Given the description of an element on the screen output the (x, y) to click on. 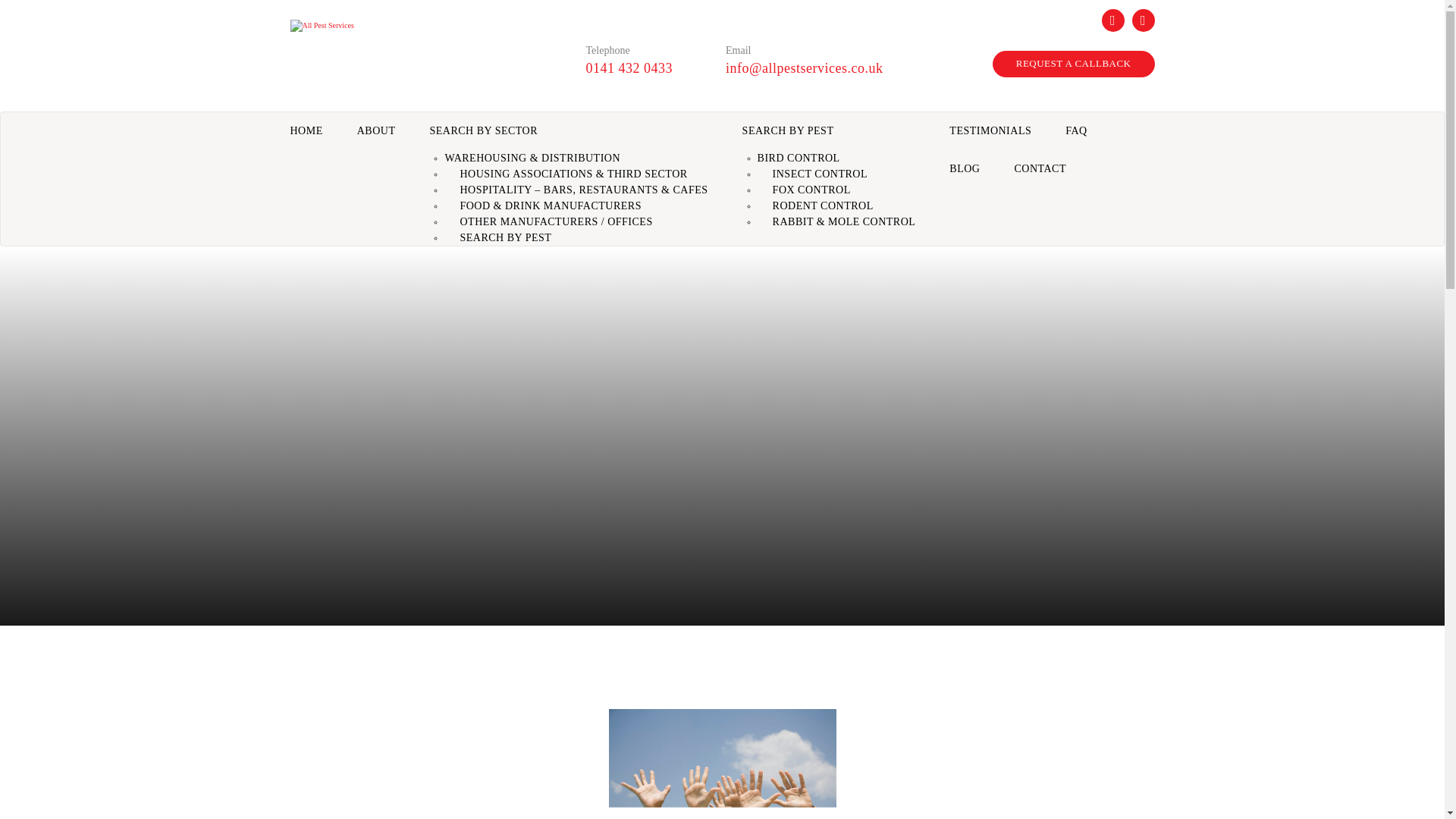
0141 432 0433 (628, 68)
RODENT CONTROL (824, 205)
BLOG (966, 168)
INSECT CONTROL (821, 173)
REQUEST A CALLBACK (1073, 63)
SEARCH BY PEST (830, 130)
All Pest Services (321, 24)
FAQ (1077, 130)
CONTACT (1041, 168)
ABOUT (378, 130)
BIRD CONTROL (808, 157)
SEARCH BY PEST (507, 237)
SEARCH BY SECTOR (569, 130)
TESTIMONIALS (991, 130)
FOX CONTROL (813, 189)
